Given the description of an element on the screen output the (x, y) to click on. 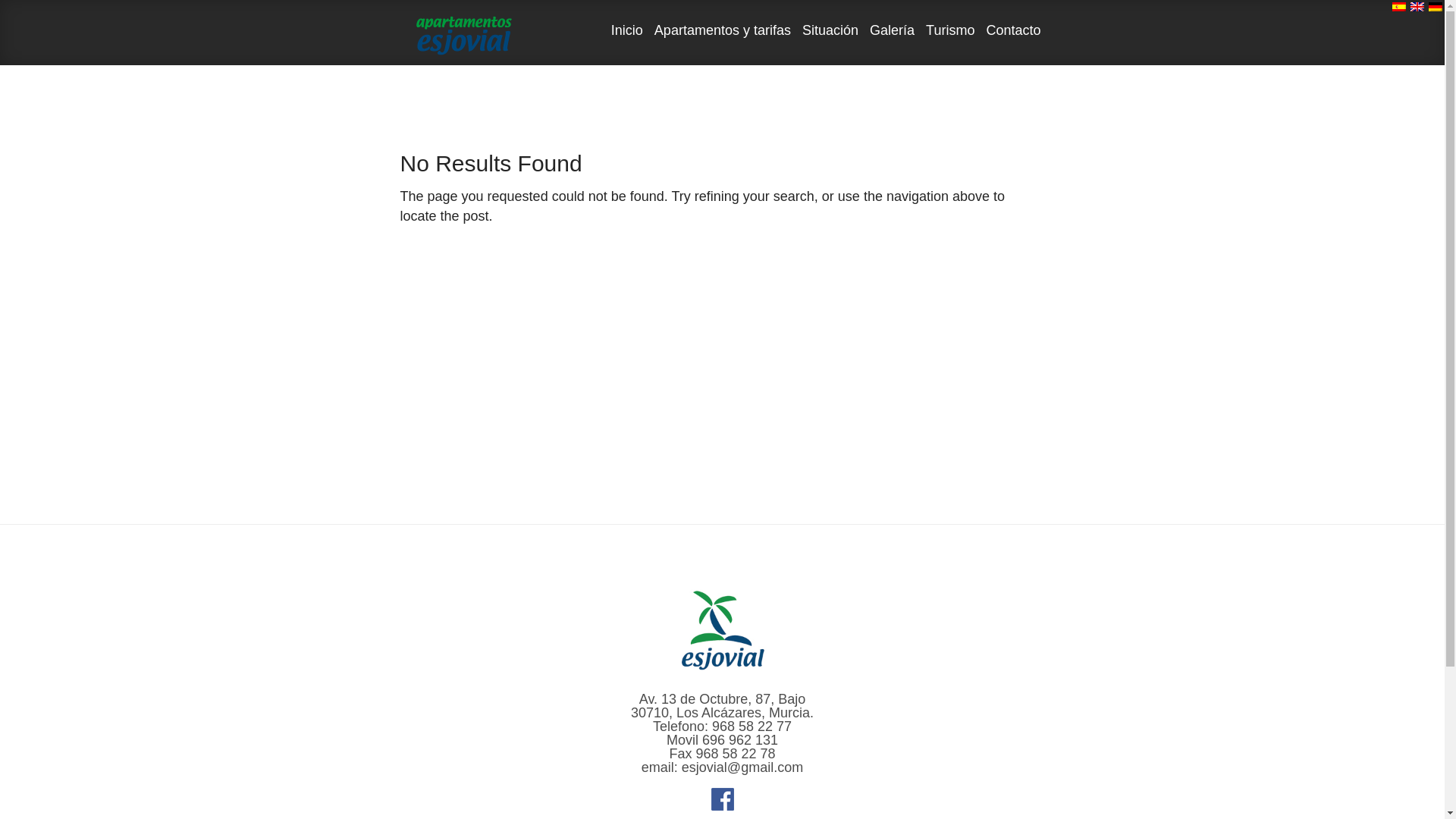
Contacto (1012, 44)
Apartamentos y tarifas (722, 44)
Inicio (626, 44)
Turismo (949, 44)
